Given the description of an element on the screen output the (x, y) to click on. 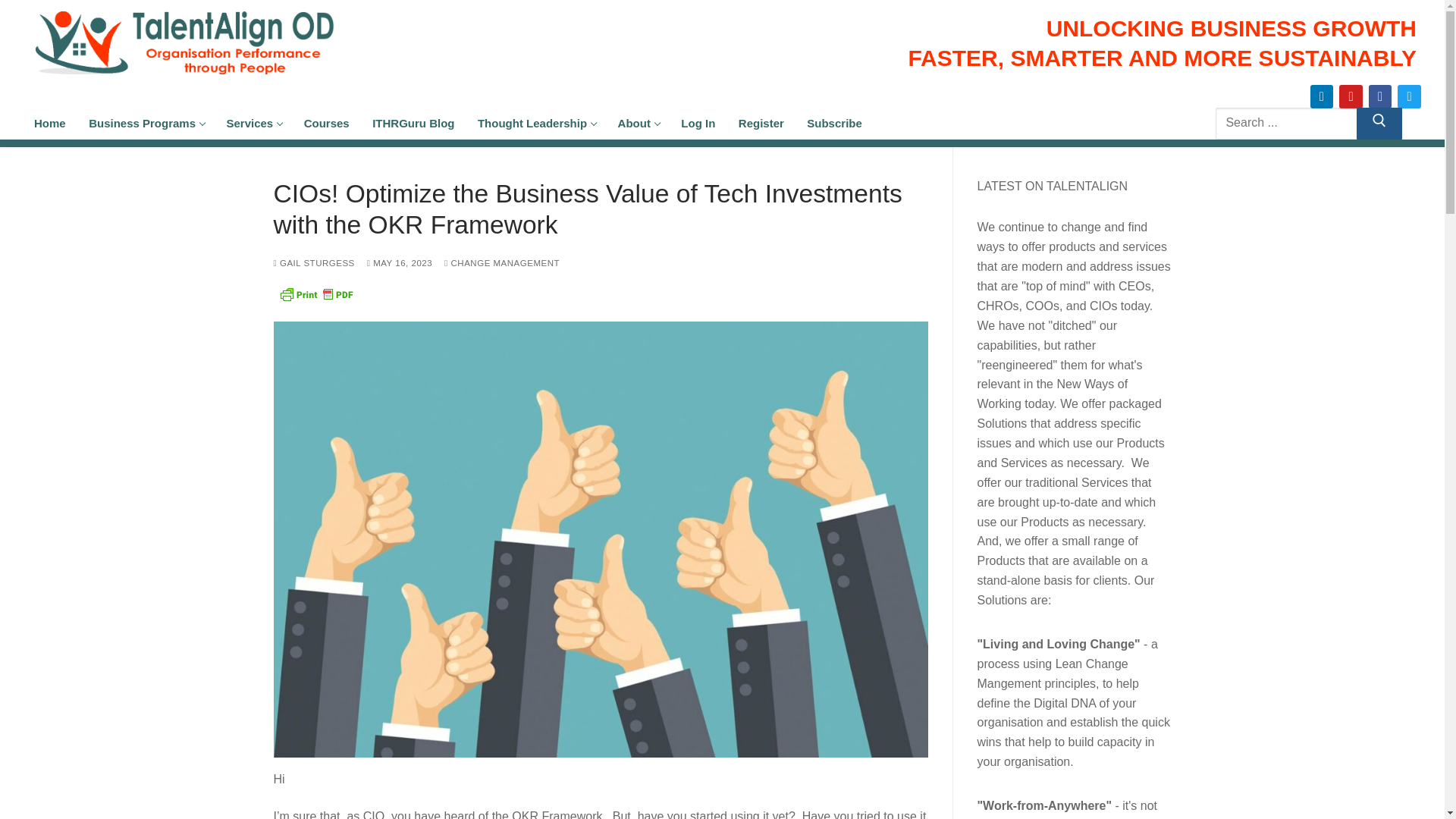
Twitter (1409, 96)
Youtube (145, 123)
ITHRGuru Blog (1349, 96)
Search for: (413, 123)
Courses (1300, 122)
Facebook (326, 123)
Home (1380, 96)
LinkedIn (49, 123)
